Given the description of an element on the screen output the (x, y) to click on. 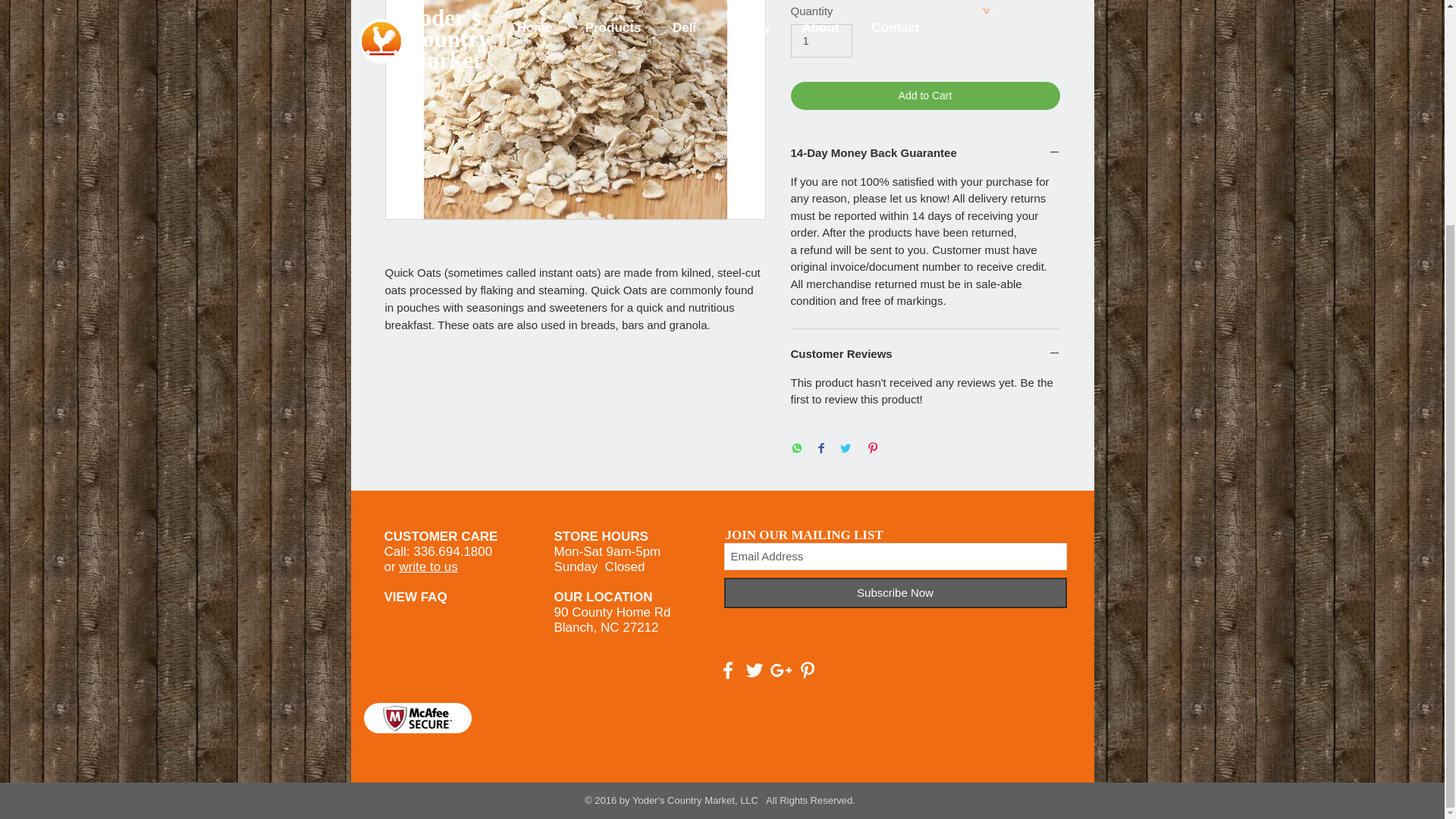
write to us (427, 566)
Add to Cart (924, 95)
14-Day Money Back Guarantee (924, 153)
CUSTOMER CARE (440, 536)
Customer Reviews (924, 354)
1 (820, 40)
VIEW FAQ (415, 596)
Subscribe Now (894, 593)
